Given the description of an element on the screen output the (x, y) to click on. 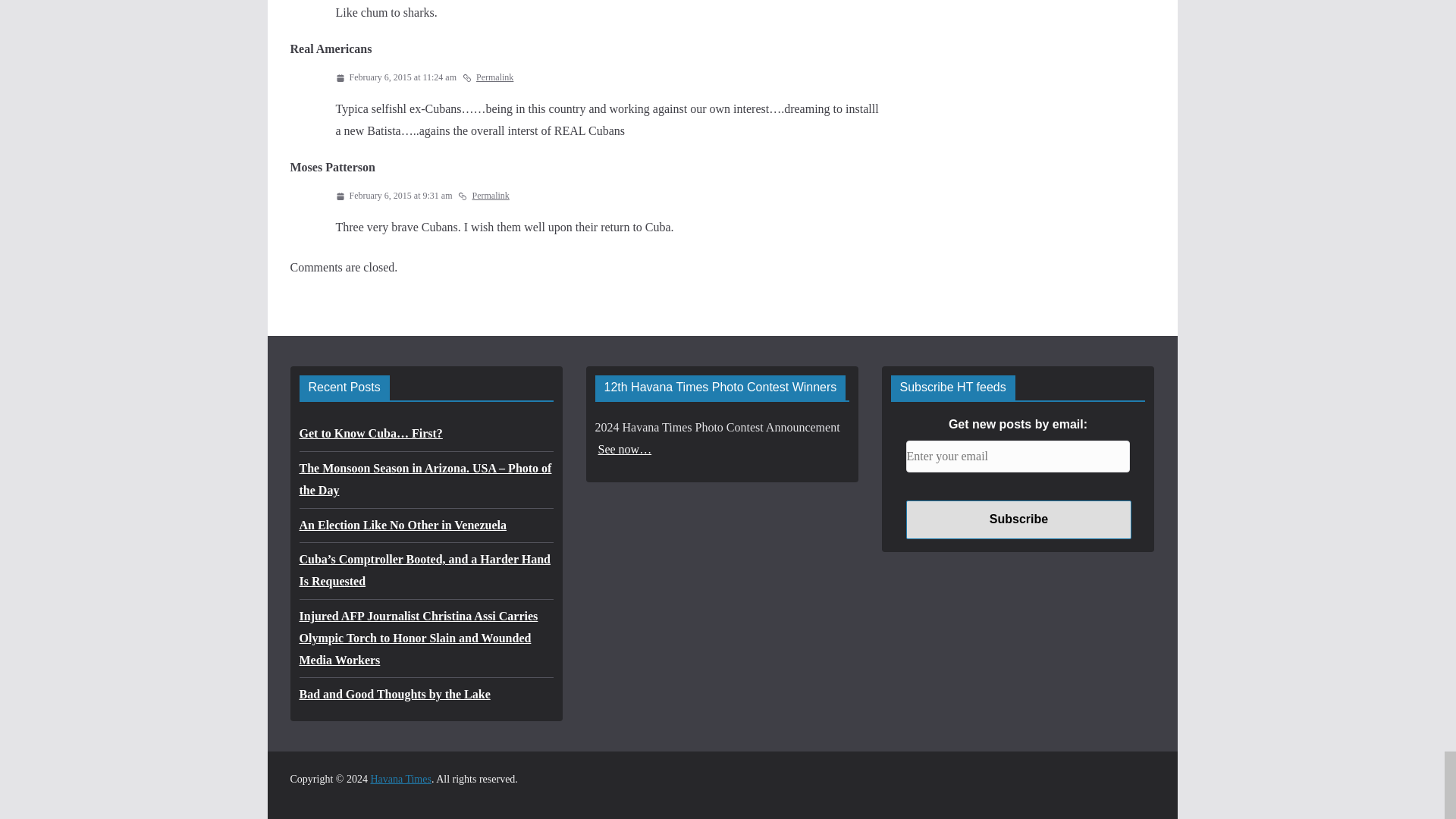
Subscribe (1018, 519)
